Given the description of an element on the screen output the (x, y) to click on. 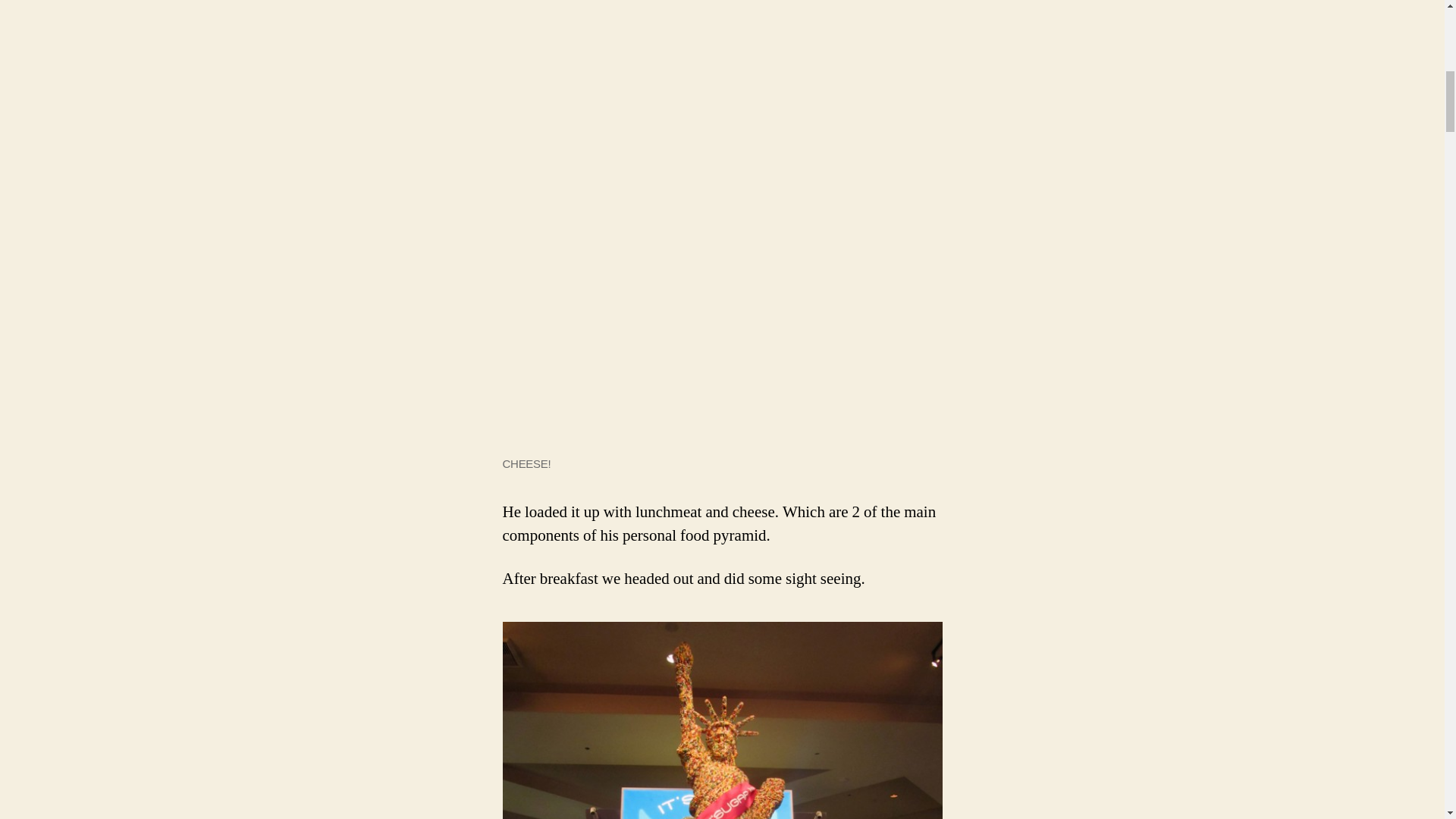
vegas19 (722, 720)
